Given the description of an element on the screen output the (x, y) to click on. 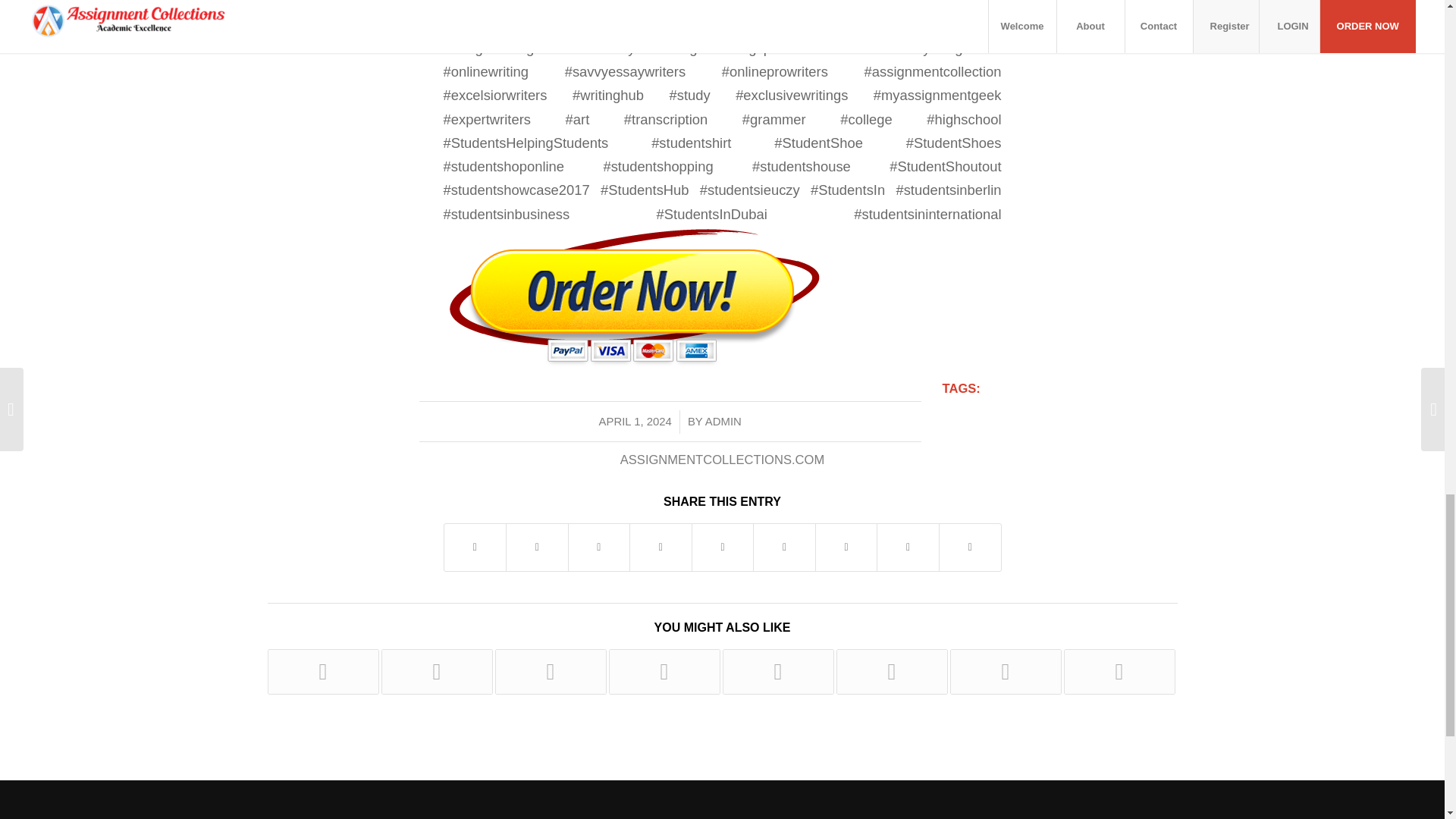
ASSIGNMENTCOLLECTIONS.COM (722, 459)
Posts by admin (722, 421)
ADMIN (722, 421)
